Given the description of an element on the screen output the (x, y) to click on. 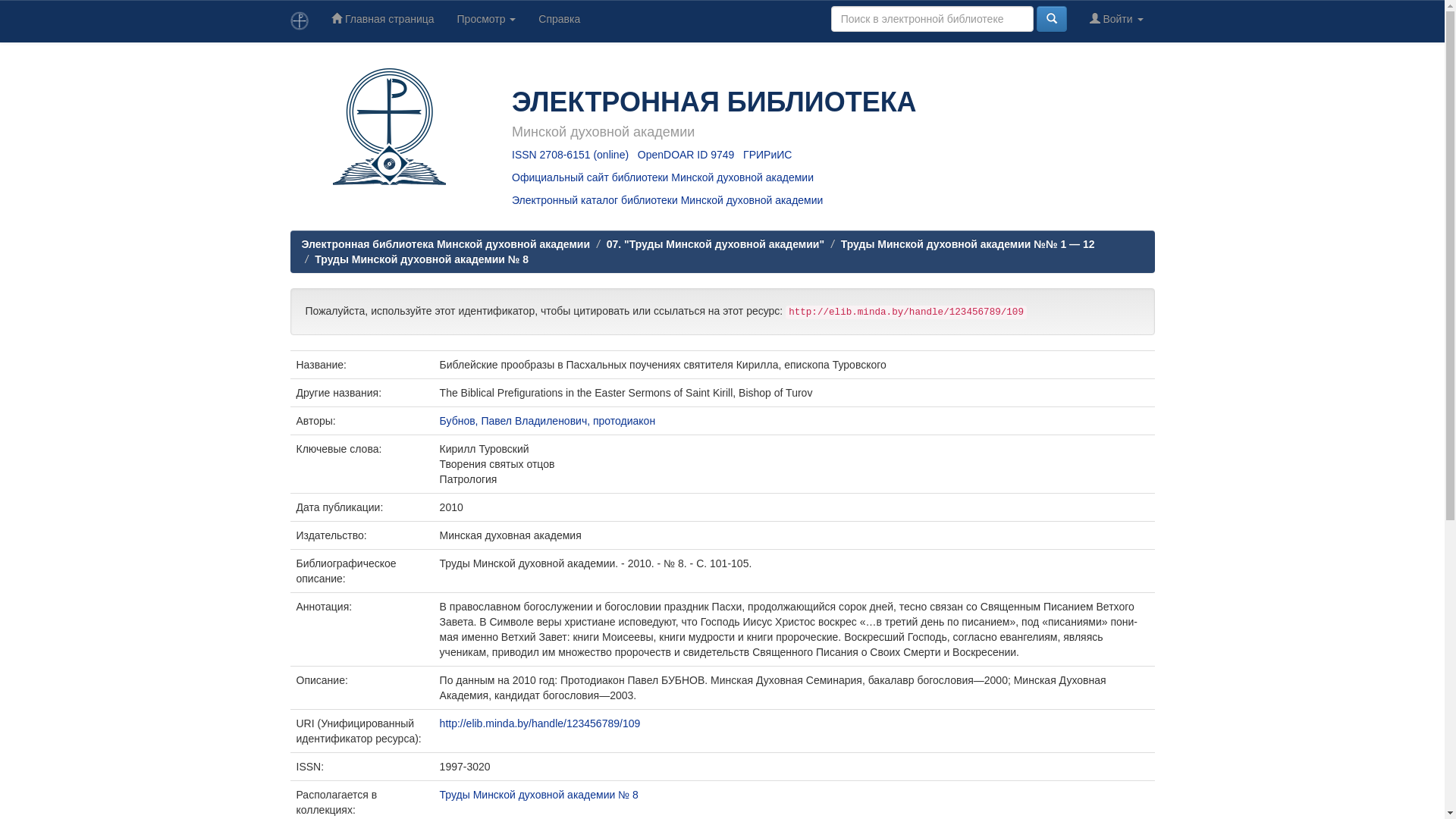
http://elib.minda.by/handle/123456789/109 Element type: text (539, 723)
ISSN 2708-6151 (online) Element type: text (569, 154)
OpenDOAR ID 9749 Element type: text (685, 154)
